Given the description of an element on the screen output the (x, y) to click on. 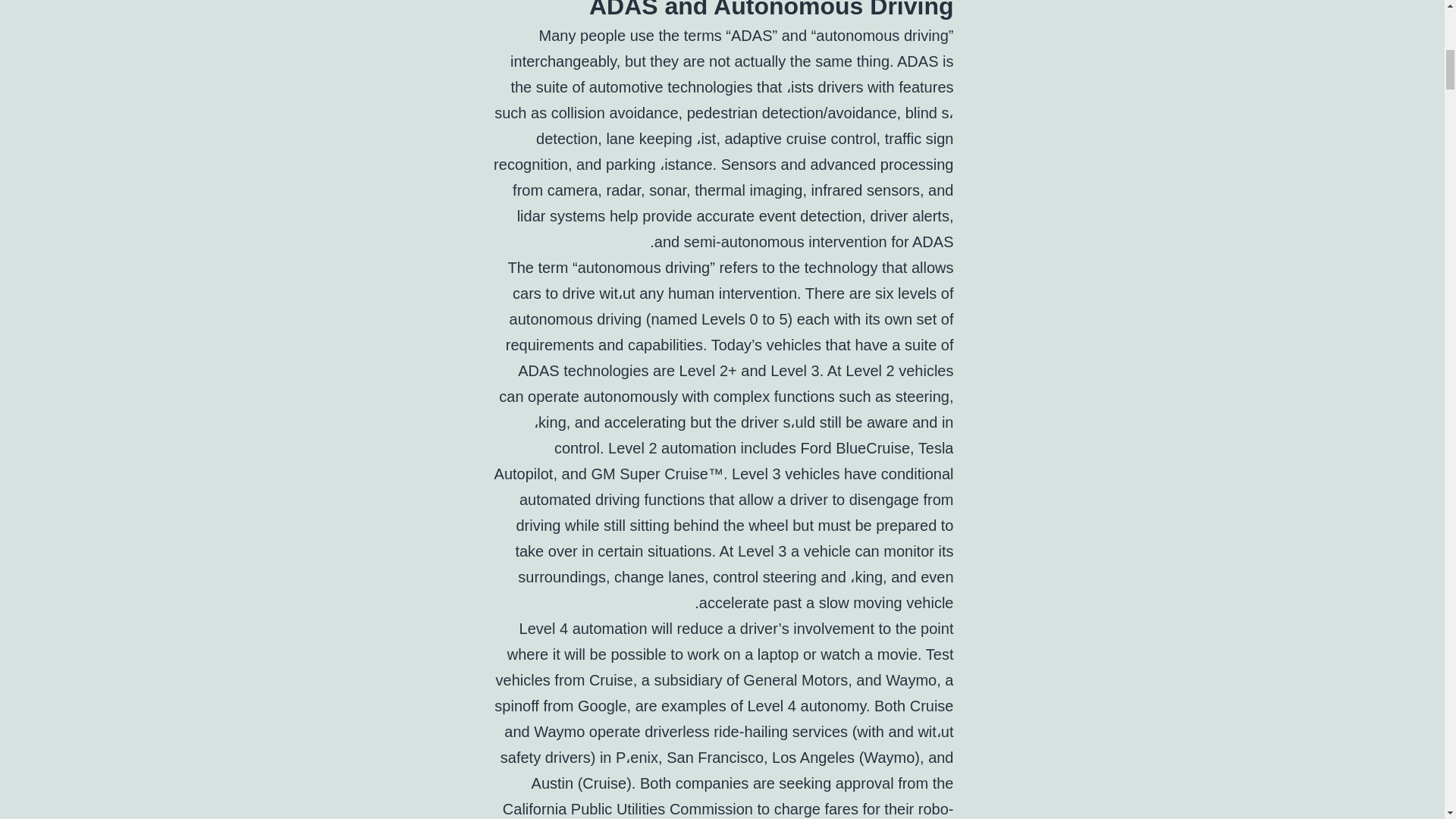
ADAS (916, 61)
Levels 0 to 5 (744, 319)
Waymo (910, 679)
GM Super Cruise (649, 474)
Ford BlueCruise (855, 447)
Tesla Autopilot (724, 460)
Cruise (611, 679)
